Given the description of an element on the screen output the (x, y) to click on. 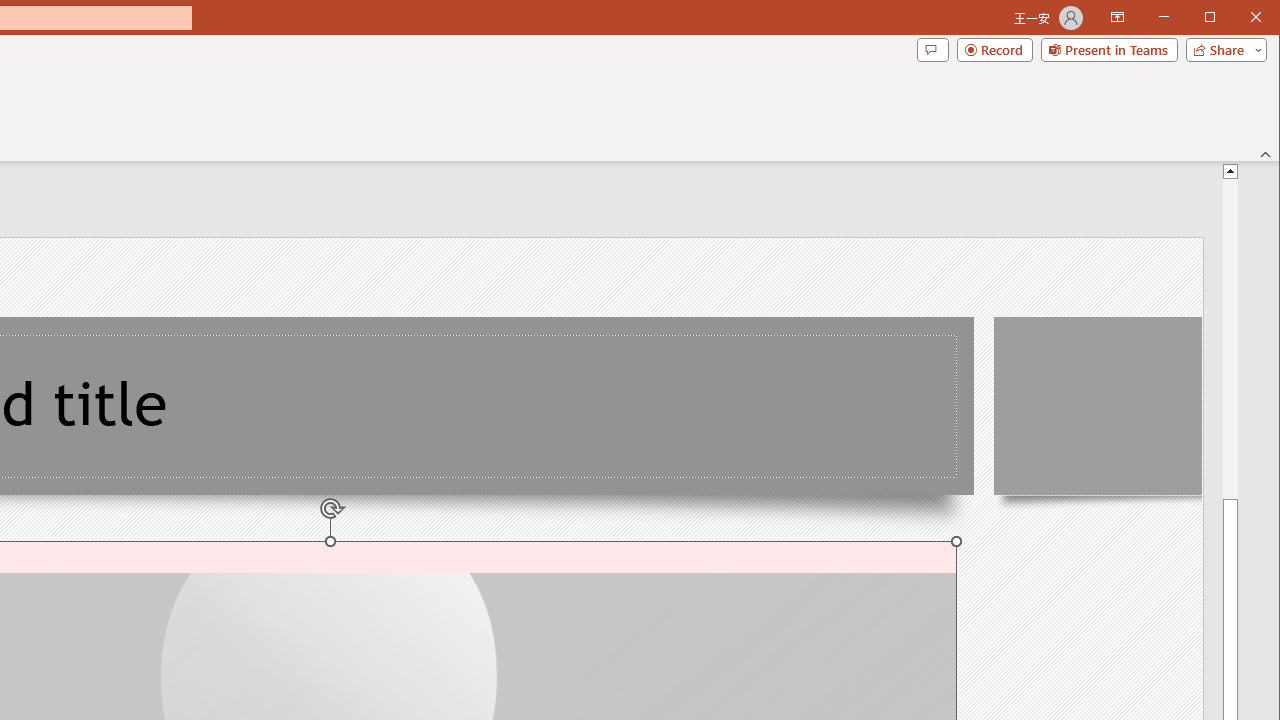
Maximize (1238, 18)
Page up (1230, 338)
